Given the description of an element on the screen output the (x, y) to click on. 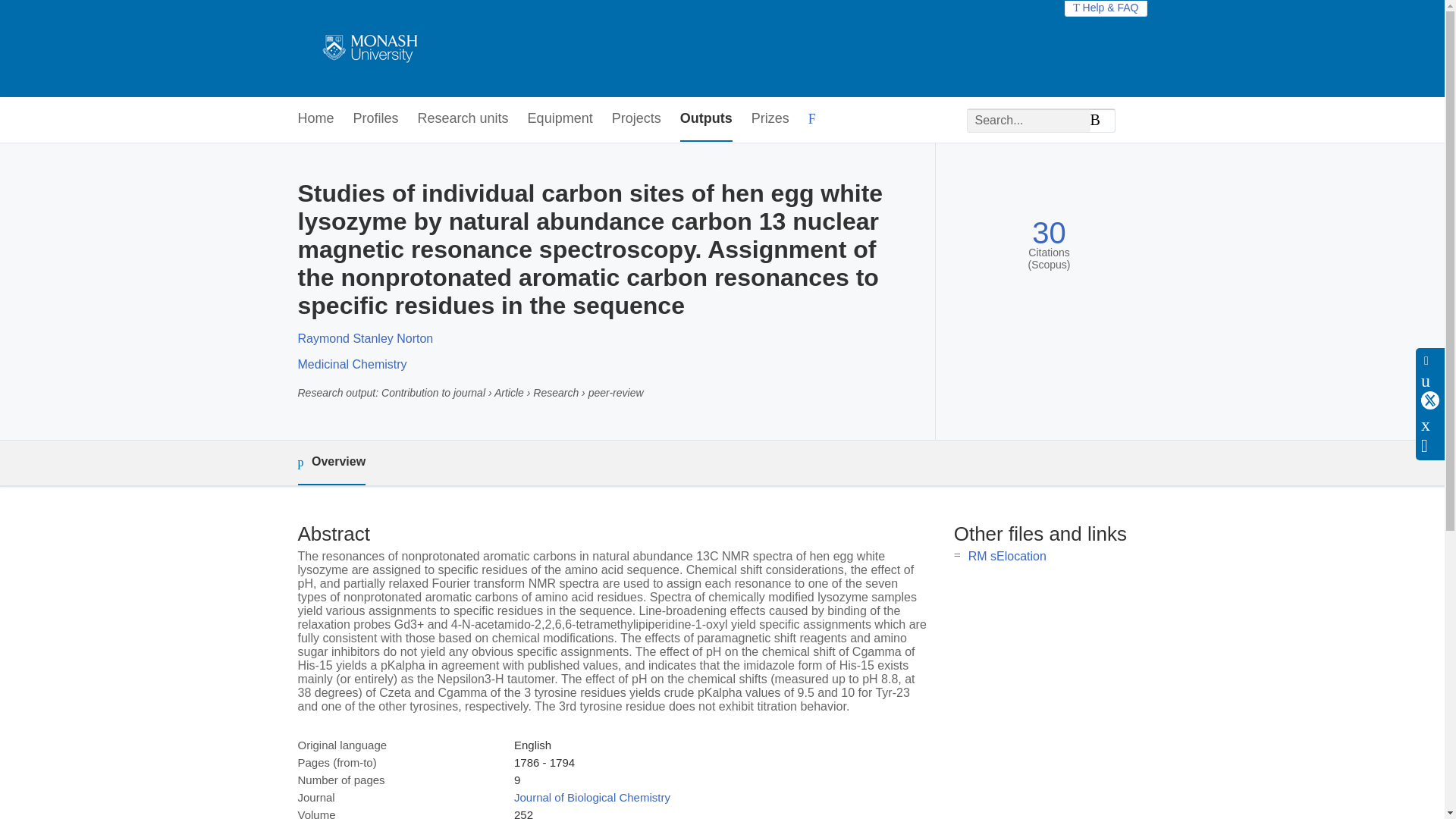
Projects (636, 119)
30 (1048, 233)
RM sElocation (1007, 555)
Overview (331, 462)
Research units (462, 119)
Equipment (559, 119)
Profiles (375, 119)
Raymond Stanley Norton (364, 338)
Medicinal Chemistry (351, 364)
Outputs (705, 119)
